Given the description of an element on the screen output the (x, y) to click on. 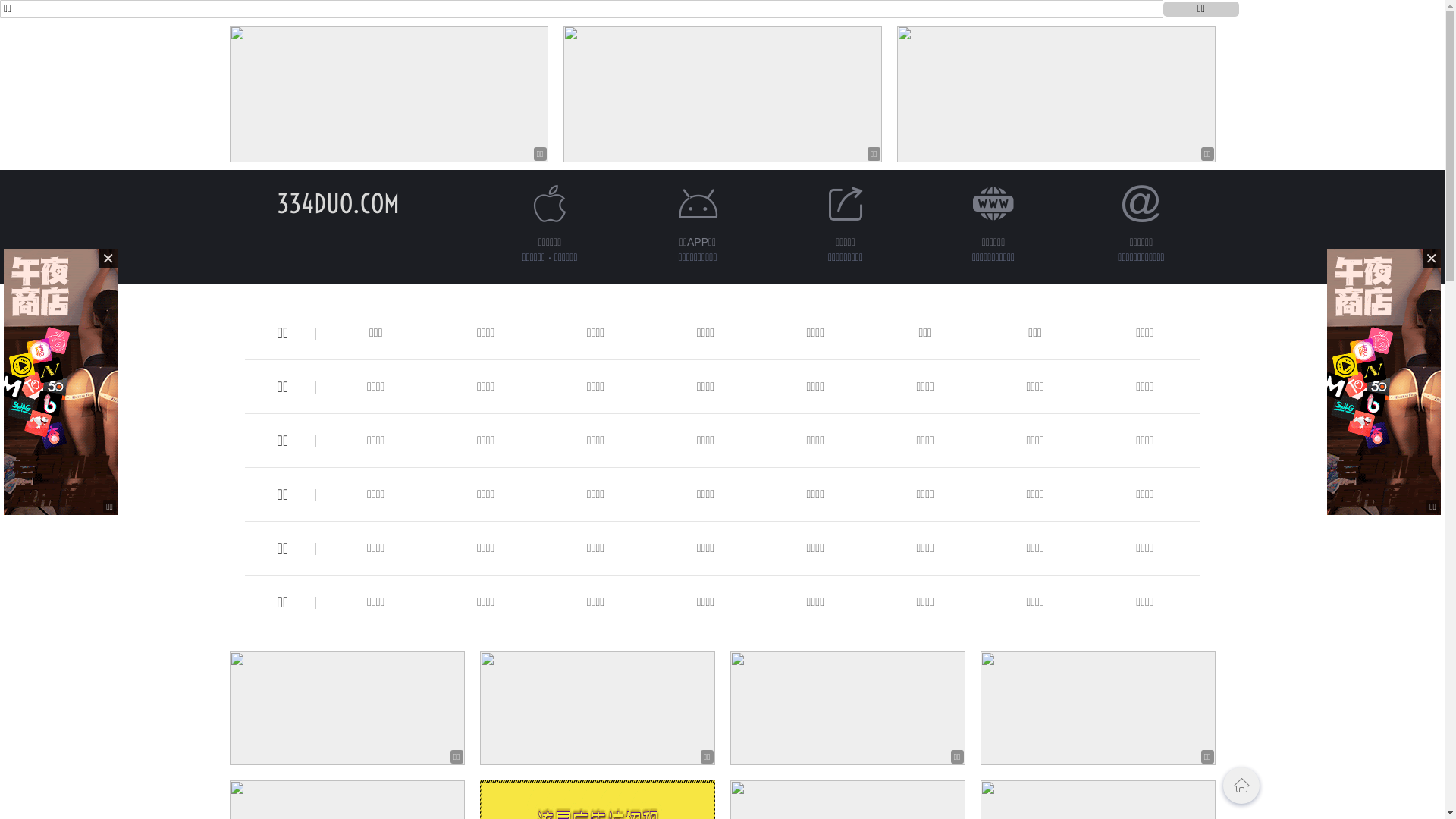
334DUO.COM Element type: text (337, 203)
